Given the description of an element on the screen output the (x, y) to click on. 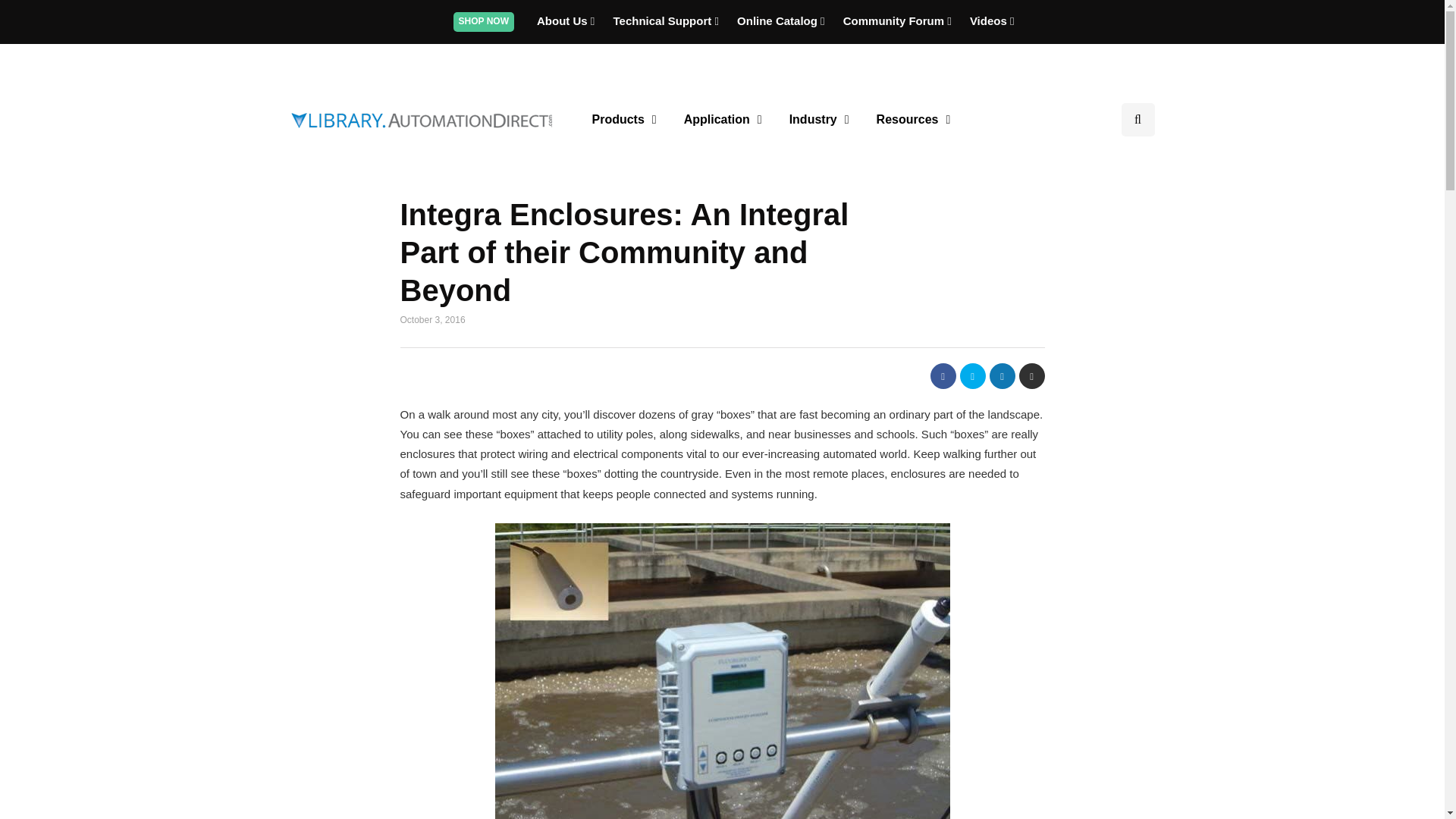
Share with LinkedIn (1001, 376)
Videos (991, 20)
Tweet this (972, 376)
Online Catalog (782, 20)
Community Forum (899, 20)
SHOP NOW (483, 20)
Industry (819, 119)
Share by Email (1032, 376)
Share with Facebook (942, 376)
Application (722, 119)
